Given the description of an element on the screen output the (x, y) to click on. 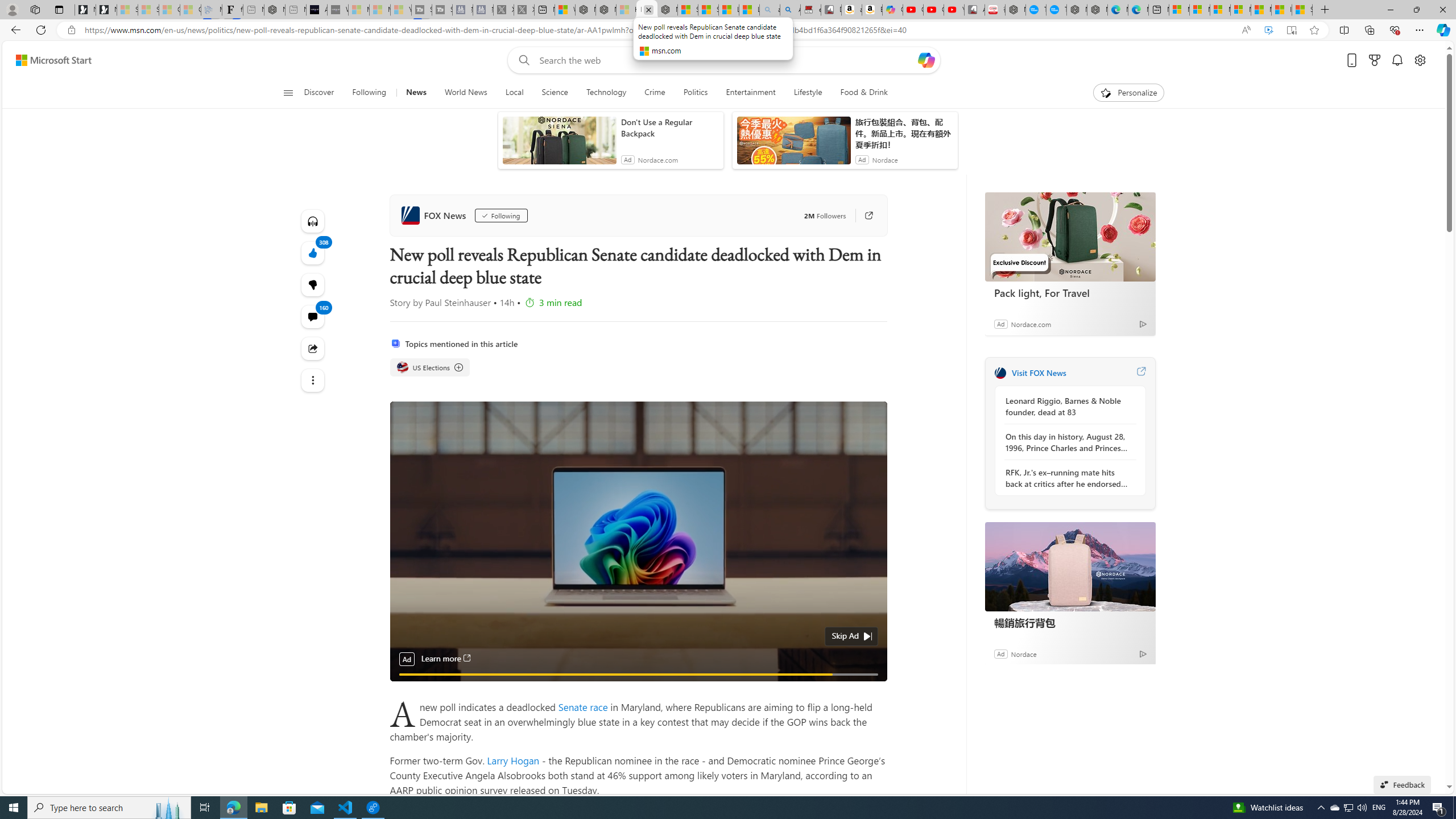
Technology (605, 92)
Newsletter Sign Up (106, 9)
All Cubot phones (974, 9)
Web search (520, 60)
Microsoft Start Sports - Sleeping (358, 9)
Food & Drink (864, 92)
Lifestyle (807, 92)
